Given the description of an element on the screen output the (x, y) to click on. 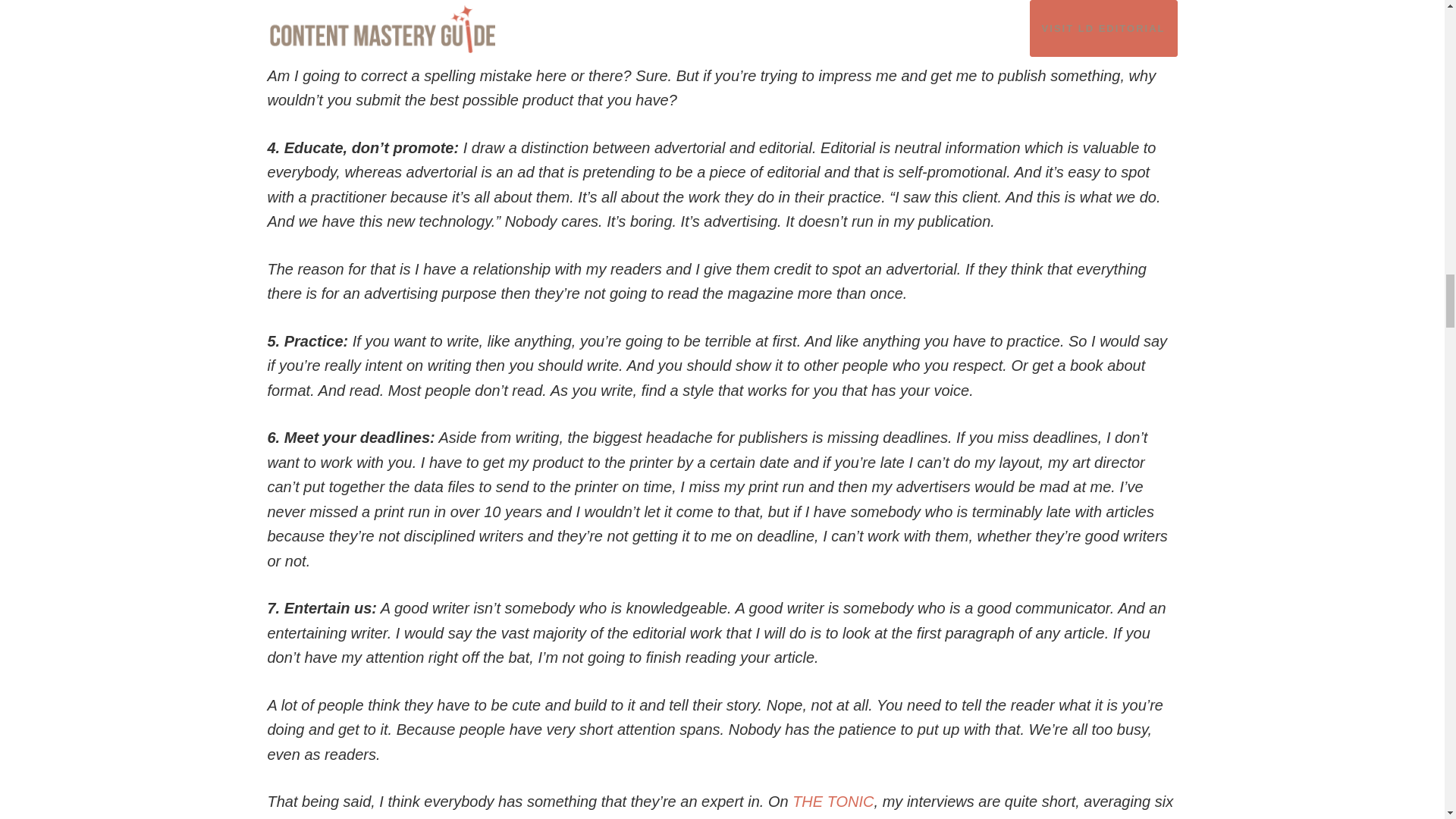
THE TONIC (832, 801)
